Given the description of an element on the screen output the (x, y) to click on. 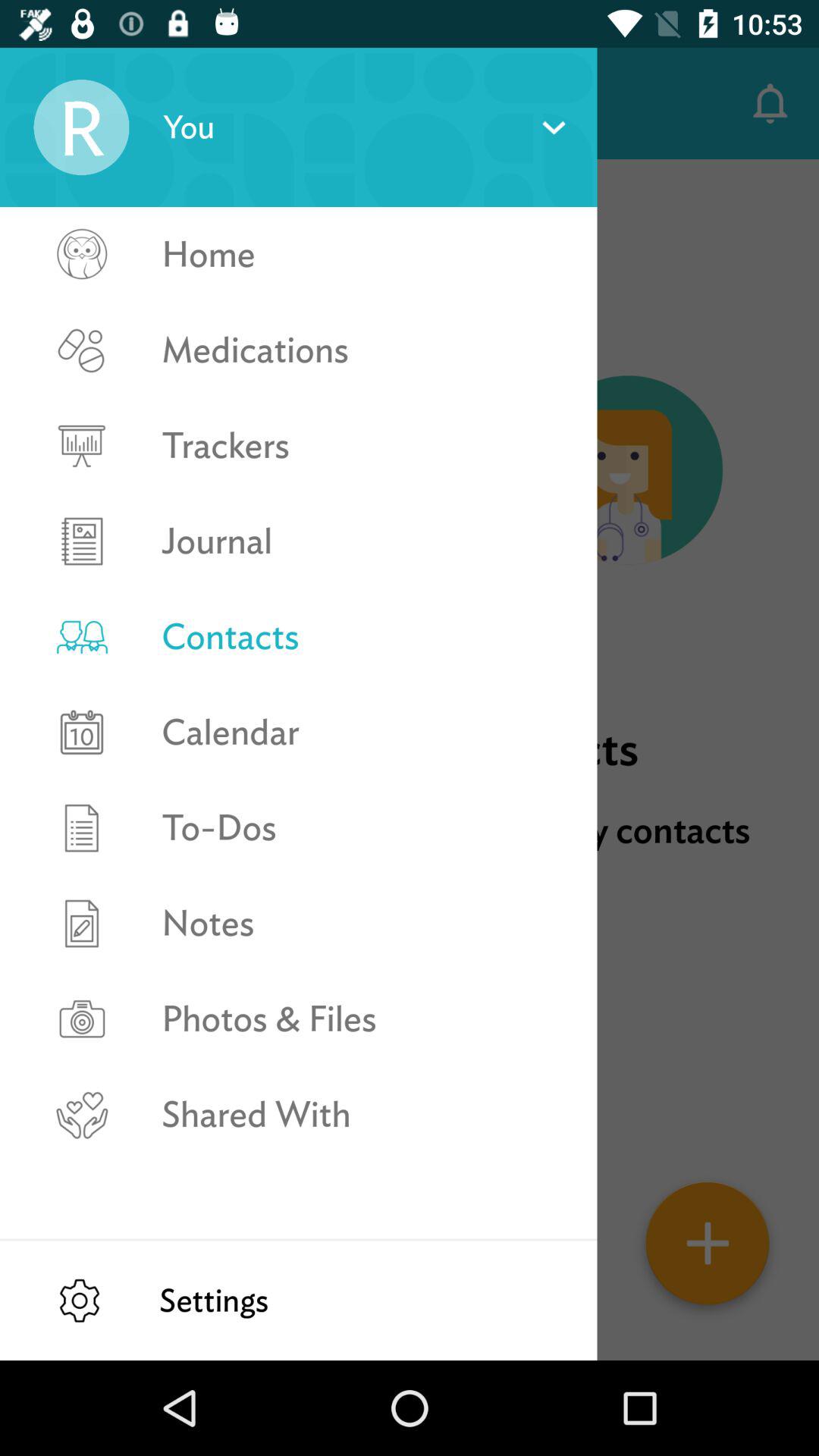
choose icon next to contacts (55, 103)
